Given the description of an element on the screen output the (x, y) to click on. 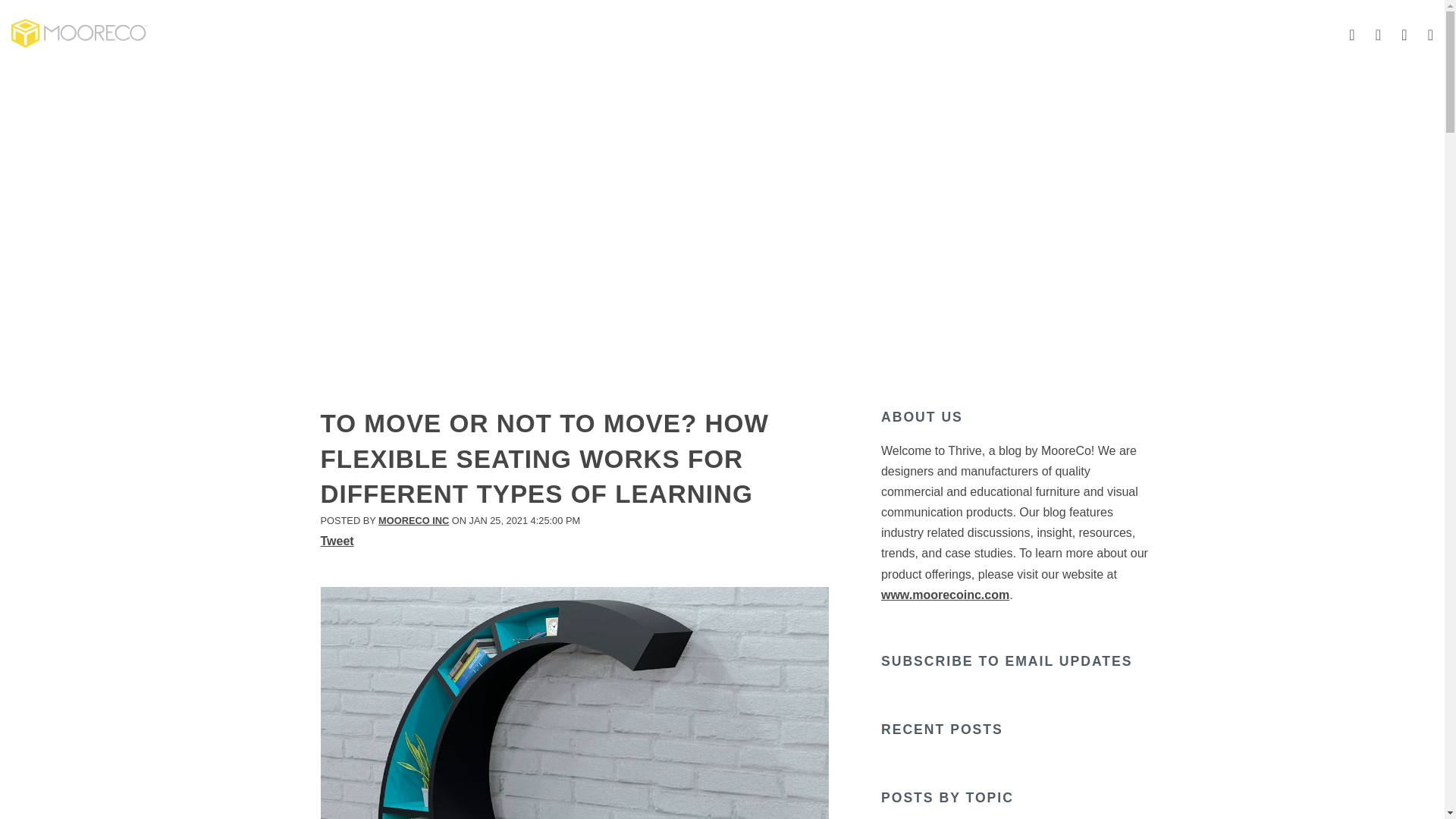
MooreCo (79, 32)
MOORECO INC (413, 520)
www.moorecoinc.com (944, 594)
Tweet (336, 540)
